Given the description of an element on the screen output the (x, y) to click on. 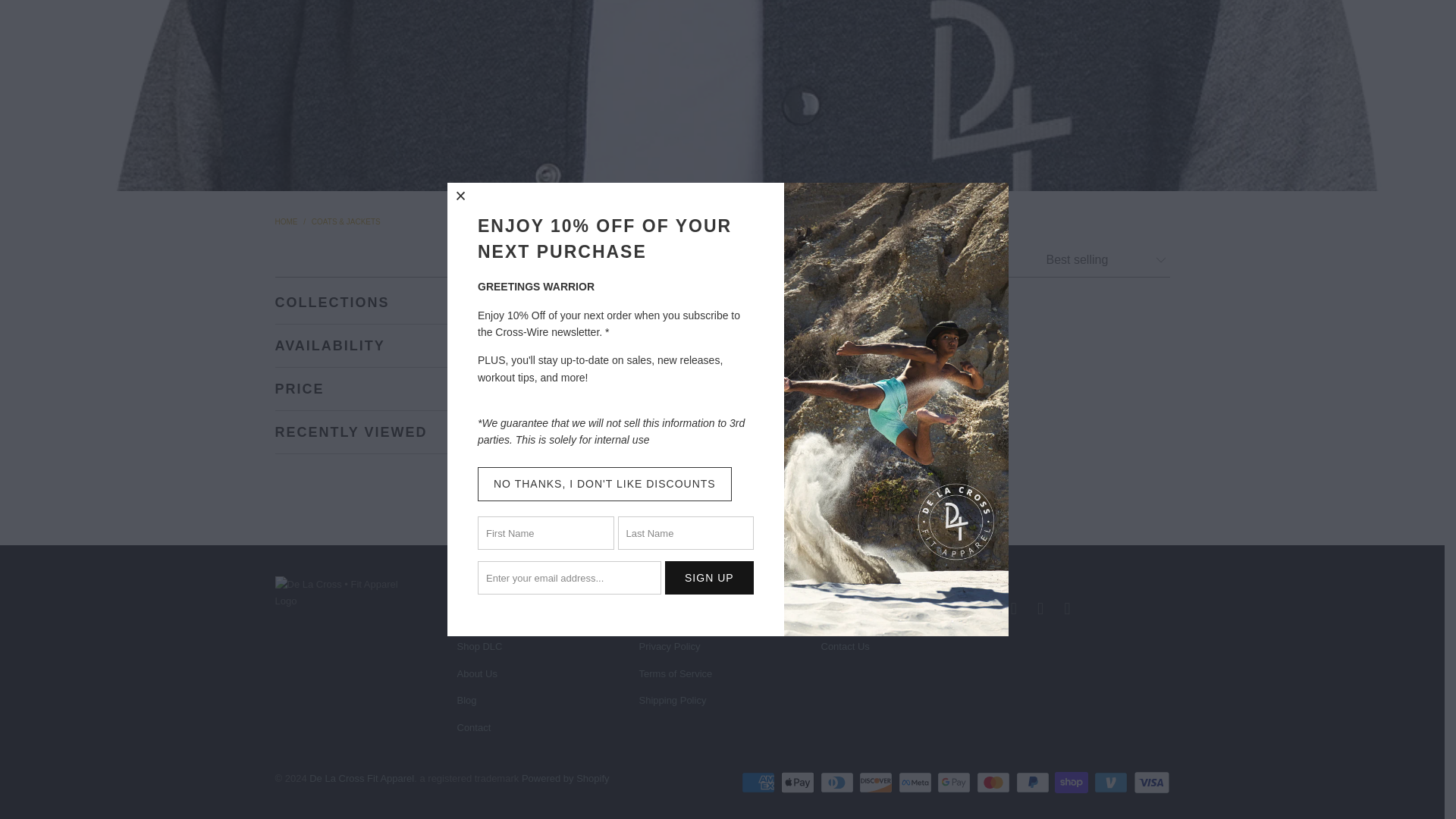
Visa (1150, 782)
Diners Club (839, 782)
PayPal (1034, 782)
Mastercard (994, 782)
Shop Pay (1072, 782)
American Express (759, 782)
Discover (877, 782)
Meta Pay (916, 782)
Apple Pay (798, 782)
Google Pay (955, 782)
Venmo (1112, 782)
